Given the description of an element on the screen output the (x, y) to click on. 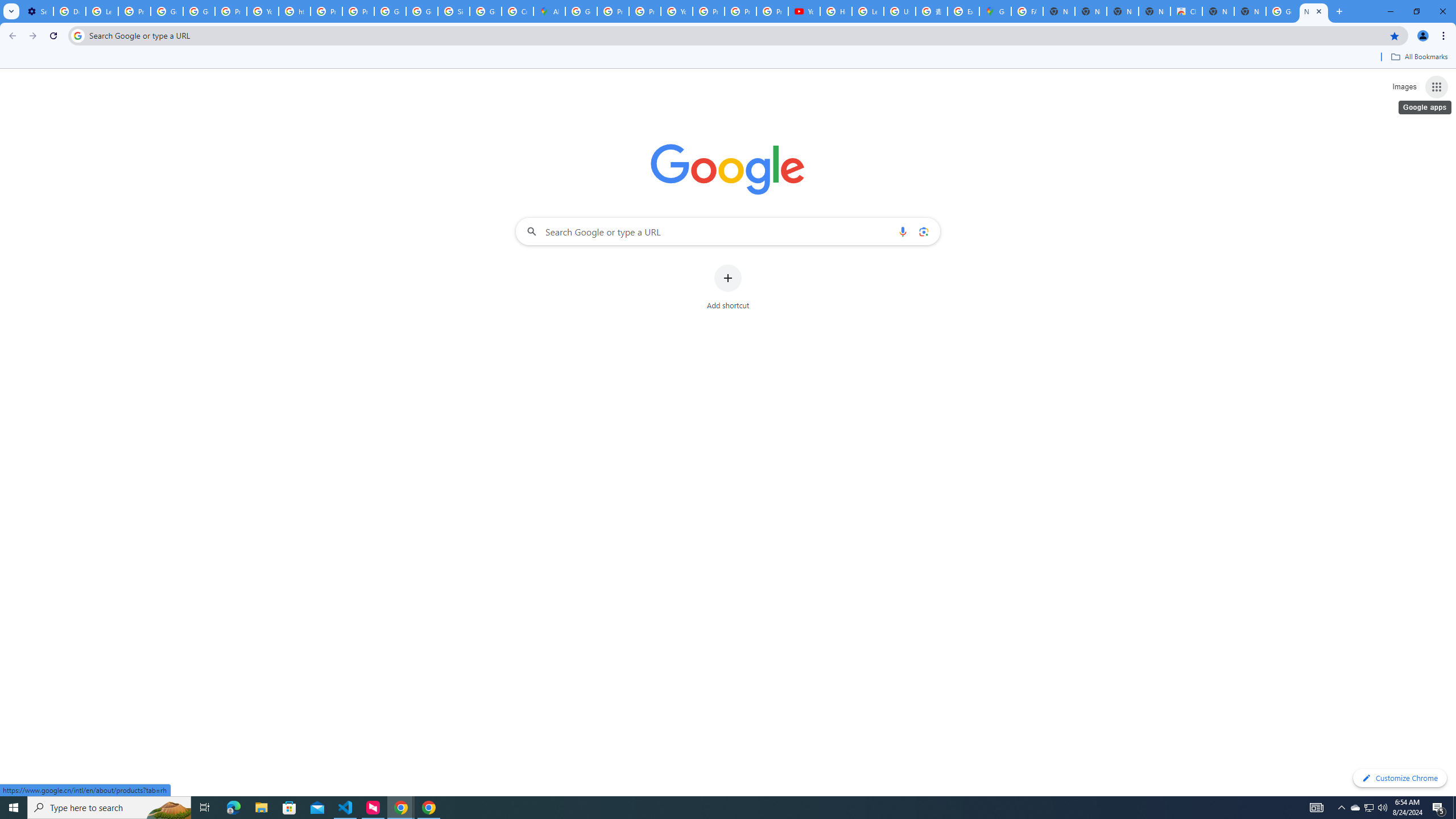
Google Images (1281, 11)
Sign in - Google Accounts (453, 11)
How Chrome protects your passwords - Google Chrome Help (836, 11)
Privacy Checkup (772, 11)
Search Google or type a URL (727, 230)
Privacy Checkup (740, 11)
Bookmarks (728, 58)
Delete photos & videos - Computer - Google Photos Help (69, 11)
